Given the description of an element on the screen output the (x, y) to click on. 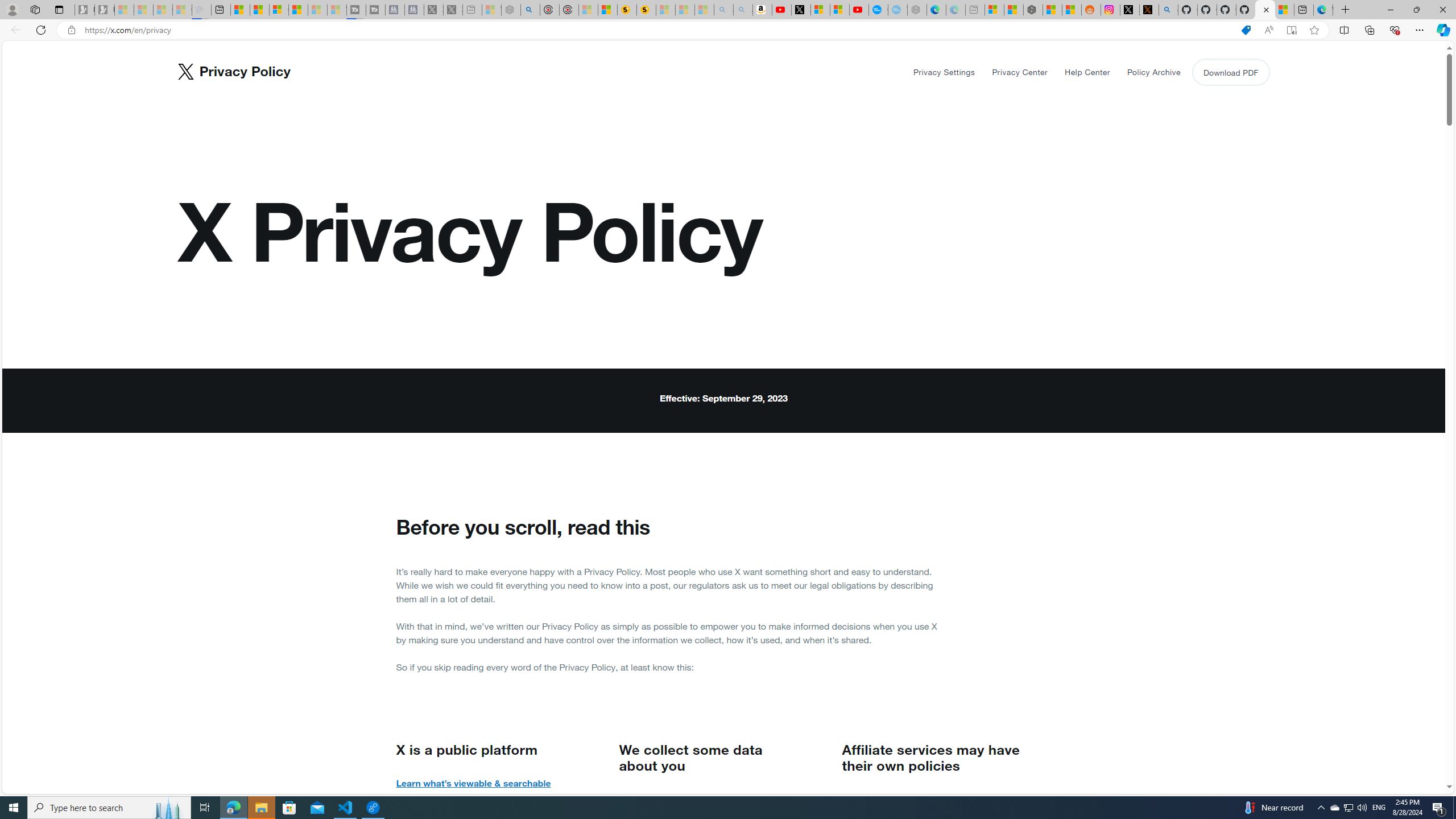
X - Sleeping (452, 9)
Microsoft Start - Sleeping (316, 9)
Help Center (1087, 72)
Wildlife - MSN - Sleeping (491, 9)
Michelle Starr, Senior Journalist at ScienceAlert (646, 9)
Enter Immersive Reader (F9) (1291, 29)
